Given the description of an element on the screen output the (x, y) to click on. 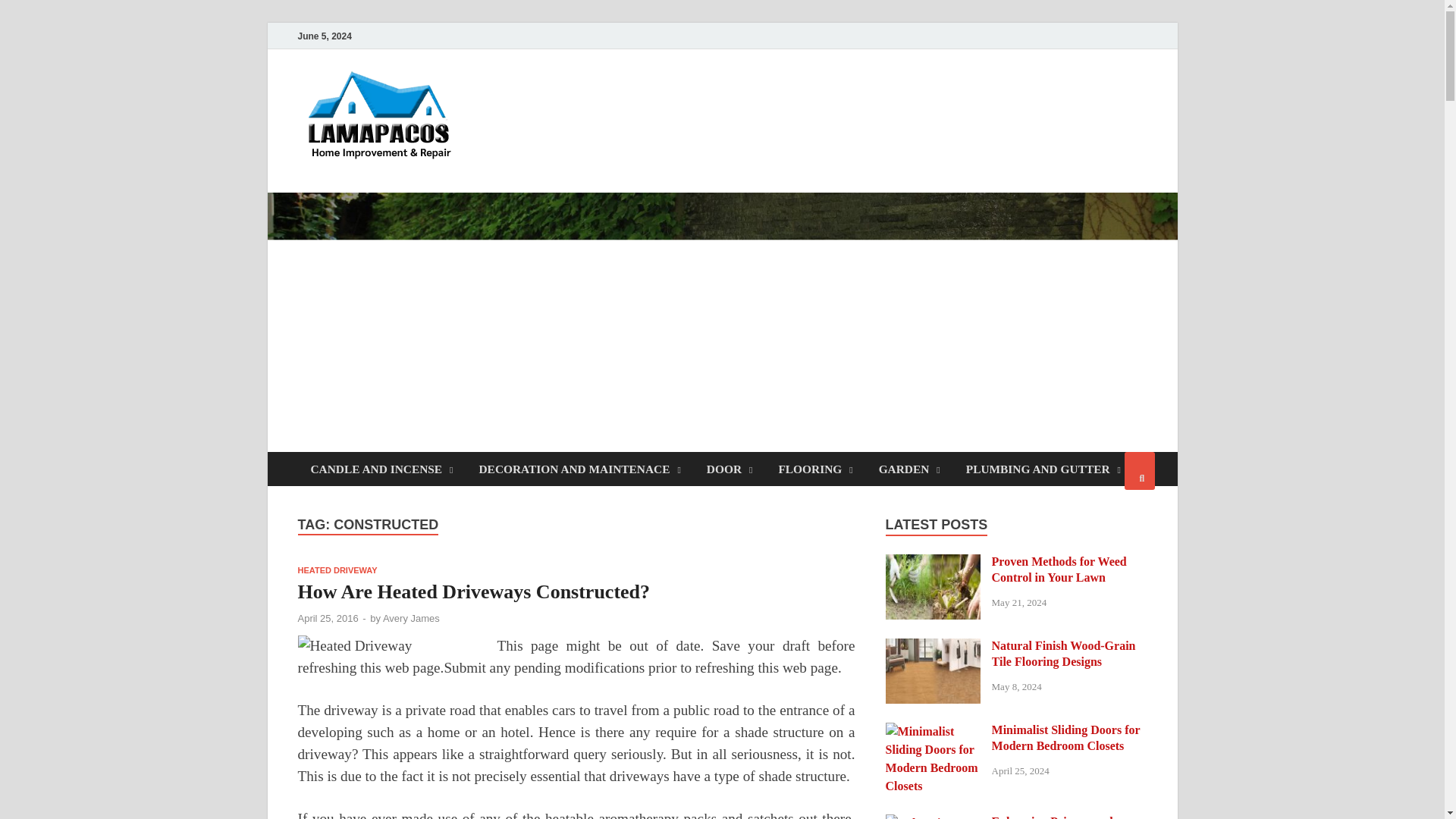
Minimalist Sliding Doors for Modern Bedroom Closets (932, 730)
DOOR (729, 469)
CANDLE AND INCENSE (381, 469)
lamapacos.com (569, 100)
Natural Finish Wood-Grain Tile Flooring Designs (932, 646)
FLOORING (814, 469)
DECORATION AND MAINTENACE (579, 469)
Proven Methods for Weed Control in Your Lawn (932, 562)
